Given the description of an element on the screen output the (x, y) to click on. 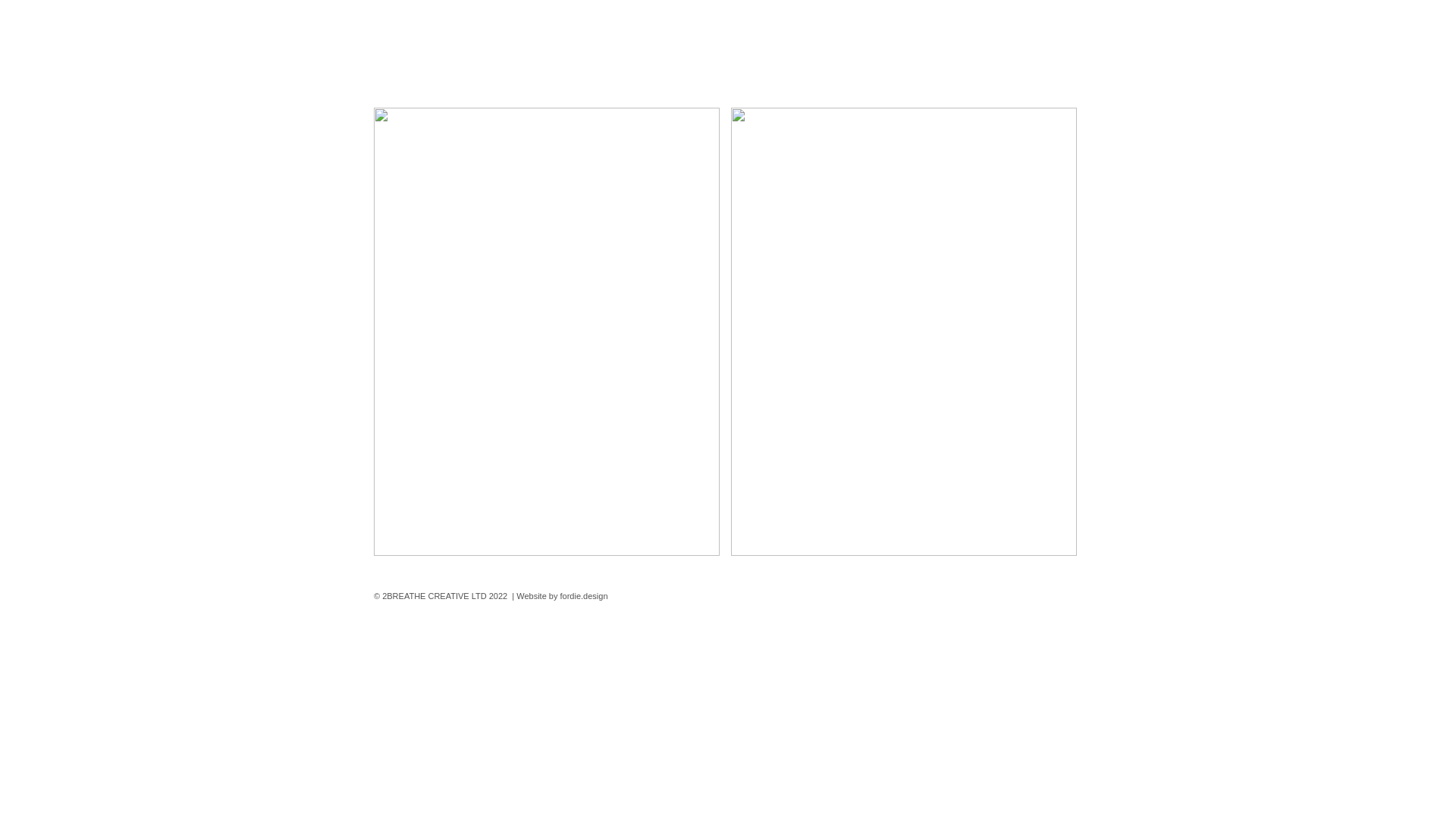
fordie.design Element type: text (584, 595)
